Given the description of an element on the screen output the (x, y) to click on. 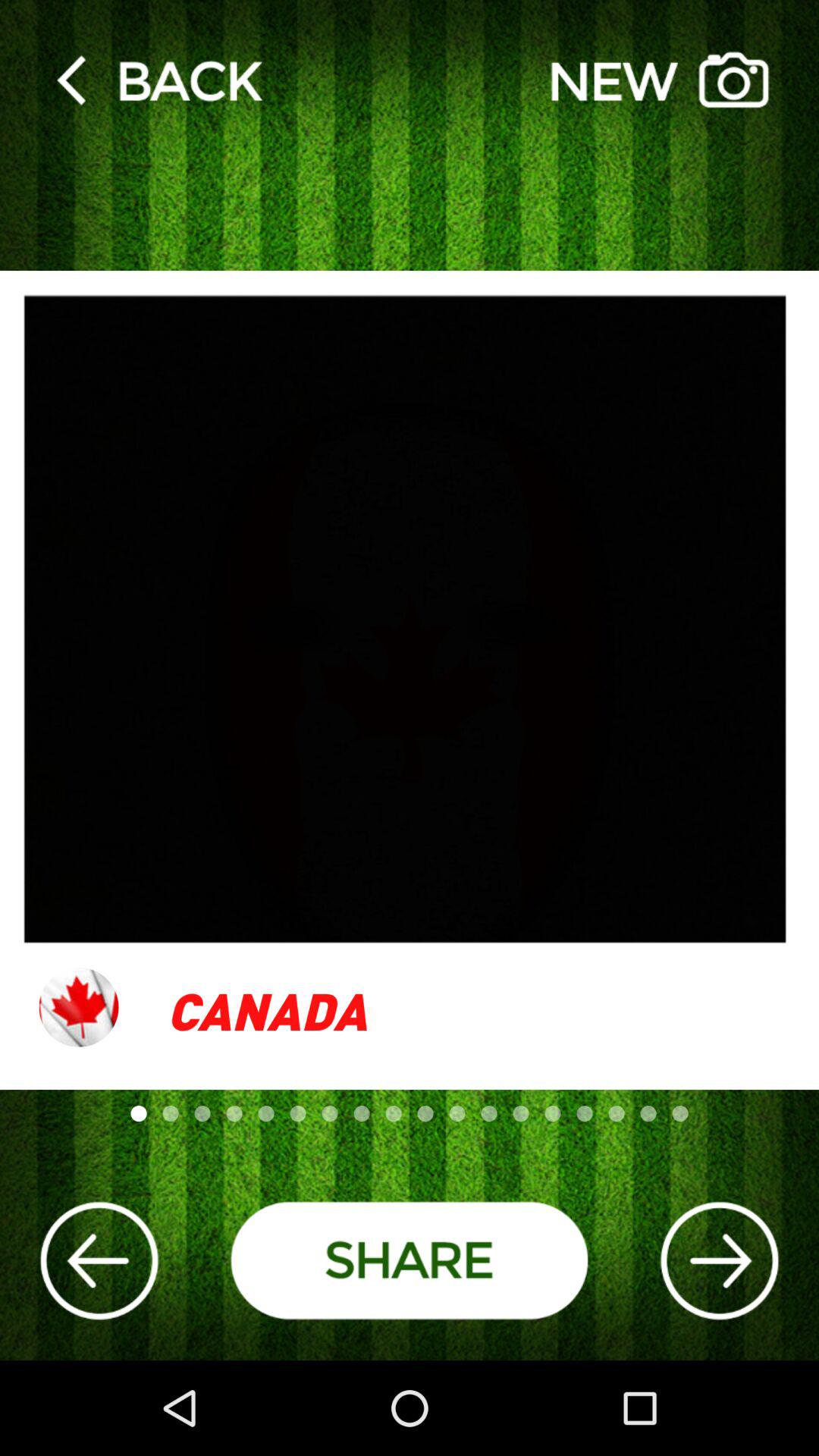
go to next (719, 1260)
